Given the description of an element on the screen output the (x, y) to click on. 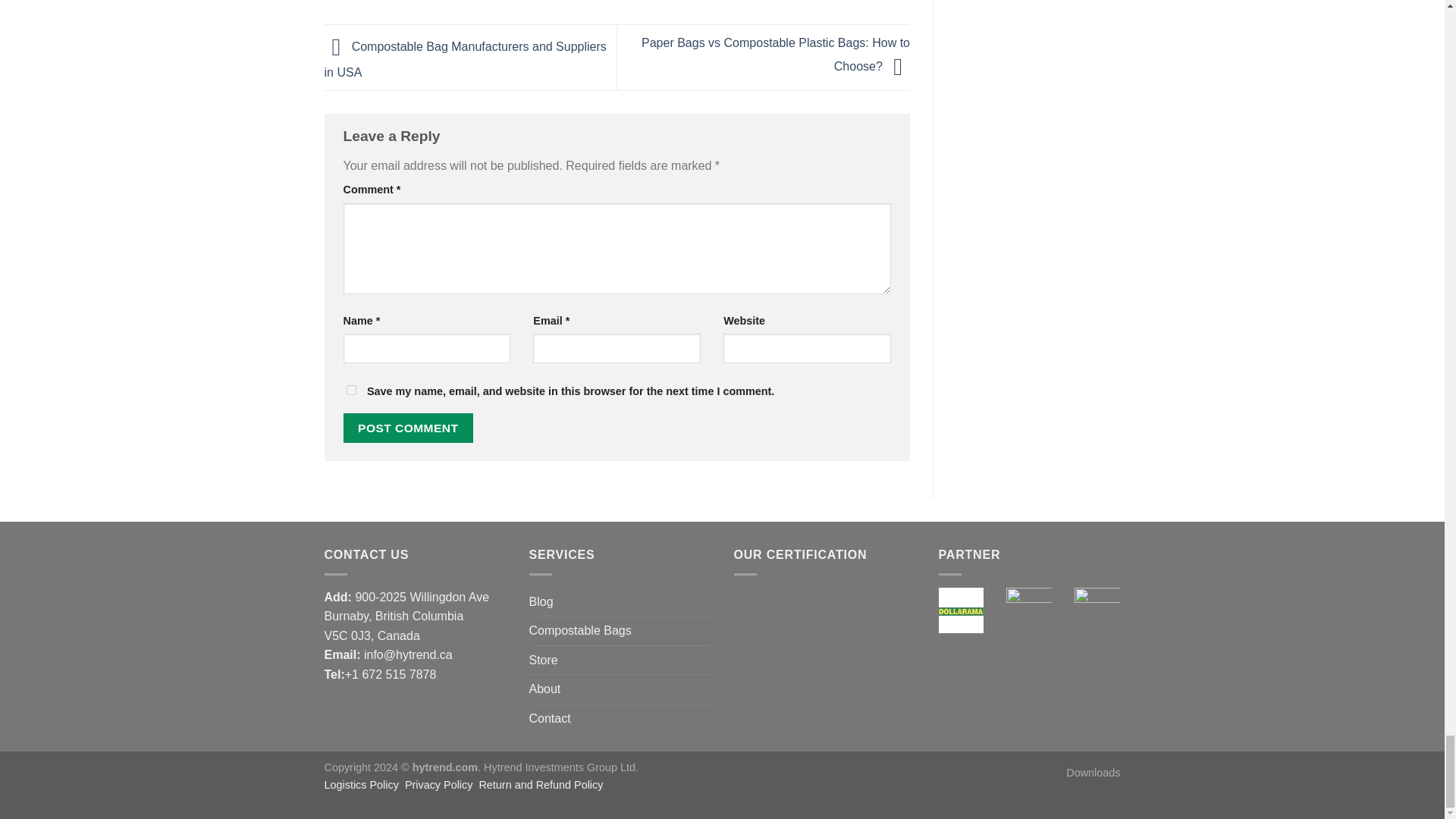
Post Comment (407, 428)
yes (350, 389)
Compostable Bag Manufacturers and Suppliers in USA (465, 59)
